Given the description of an element on the screen output the (x, y) to click on. 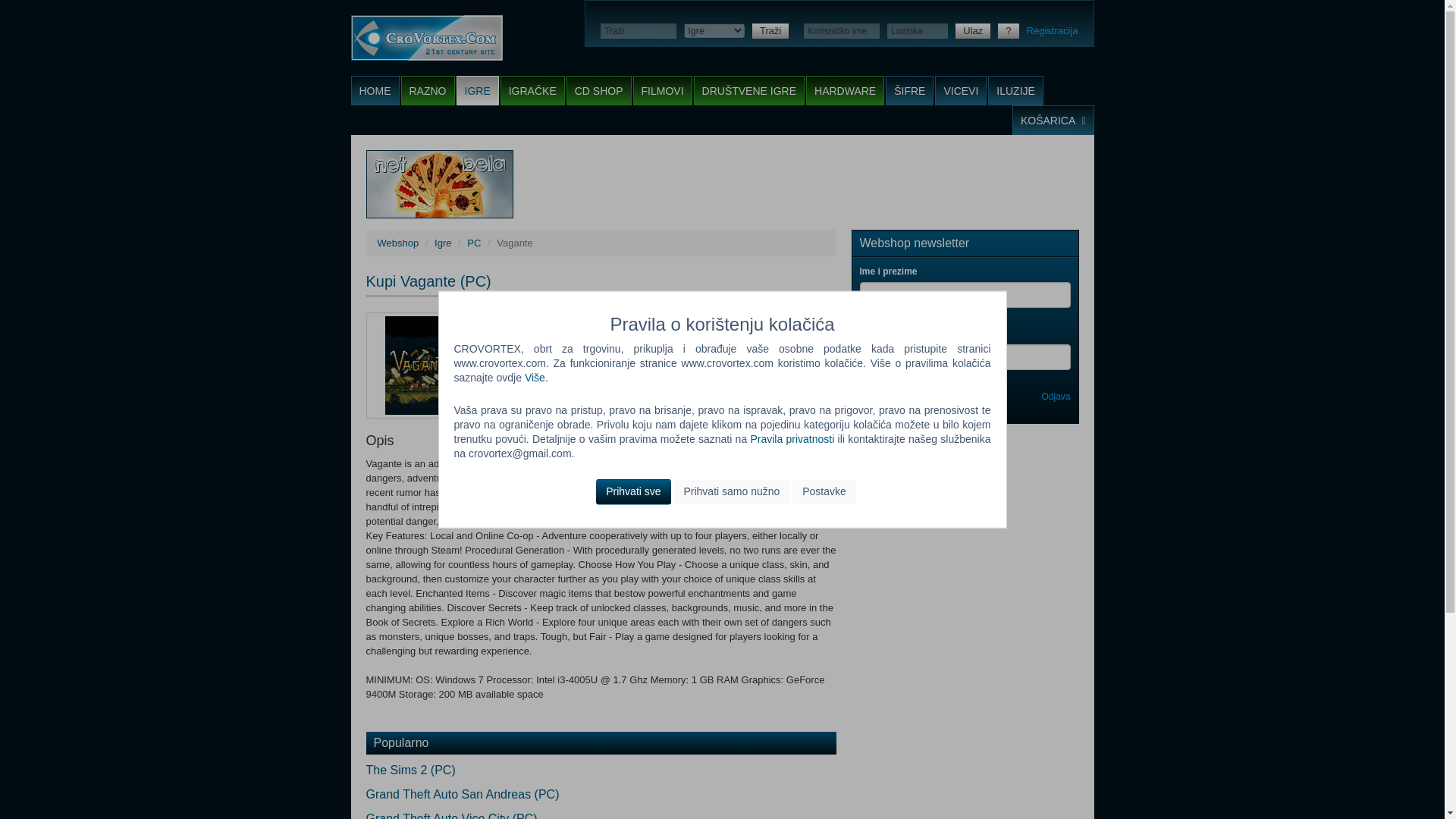
Ulaz (972, 30)
? (1007, 30)
CroVortex (426, 37)
IGRE (478, 90)
Registracija (1052, 30)
RAZNO (427, 90)
HOME (374, 90)
